Given the description of an element on the screen output the (x, y) to click on. 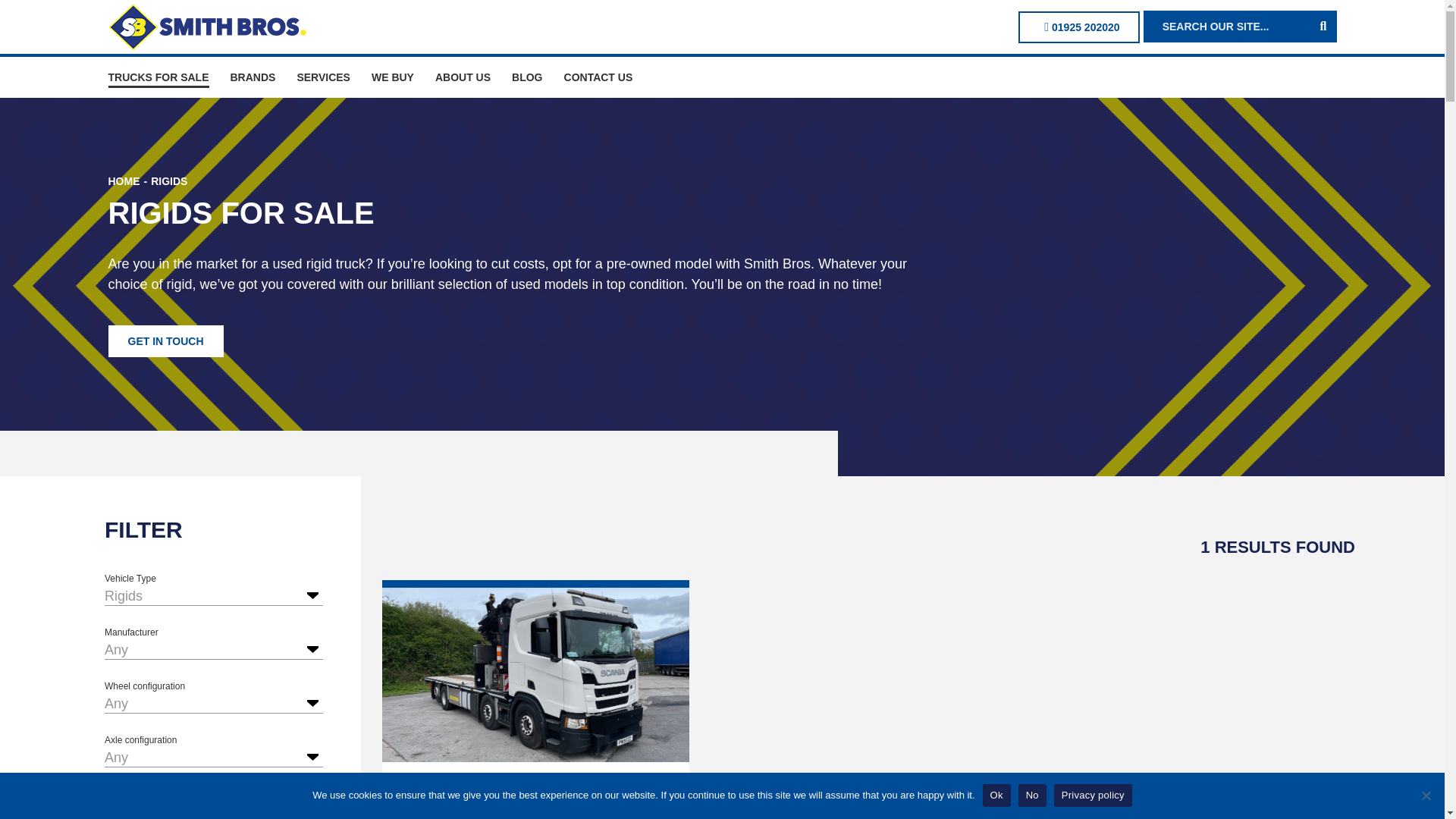
smithbros-logo (206, 26)
 SEARCH (148, 552)
SERVICES (323, 76)
ABOUT US (462, 76)
WE BUY (392, 76)
No (1425, 795)
CONTACT US (598, 76)
Browse to: Home (123, 181)
01925 202020 (1077, 27)
BLOG (526, 76)
BRANDS (253, 76)
TRUCKS FOR SALE (157, 76)
Search Site: (1230, 26)
